Given the description of an element on the screen output the (x, y) to click on. 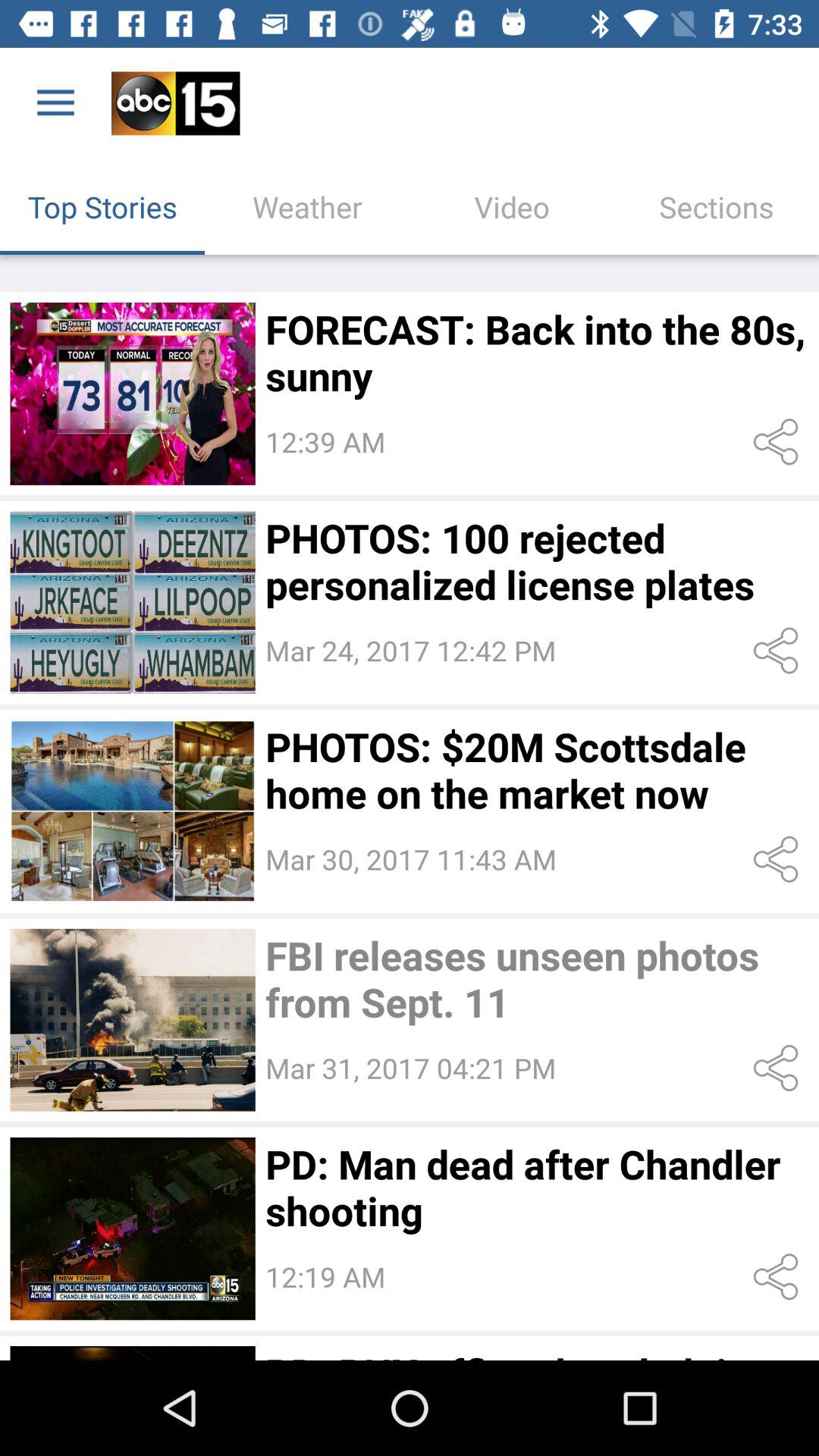
open story (132, 1019)
